Given the description of an element on the screen output the (x, y) to click on. 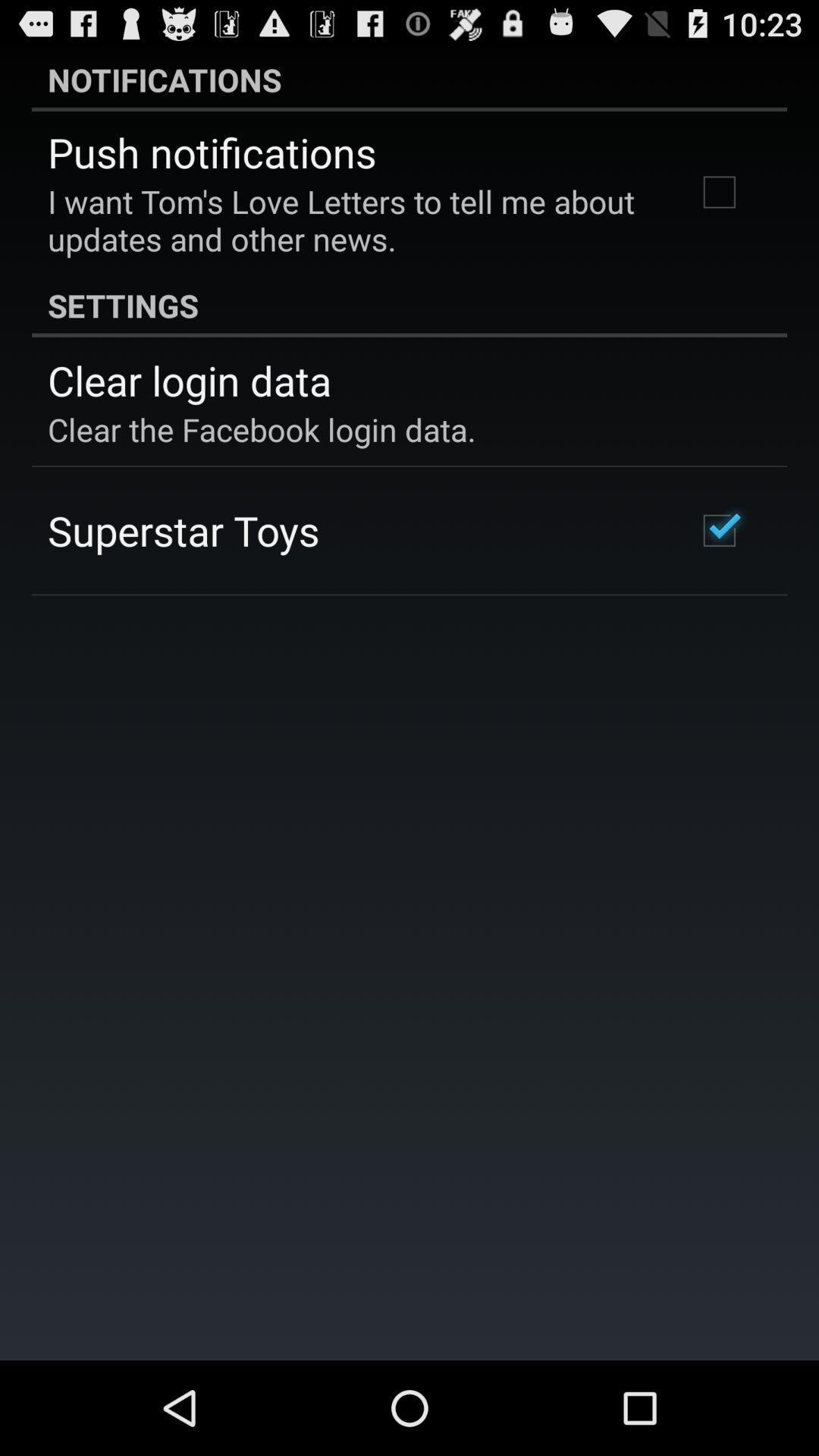
open the item below the i want tom icon (409, 305)
